Given the description of an element on the screen output the (x, y) to click on. 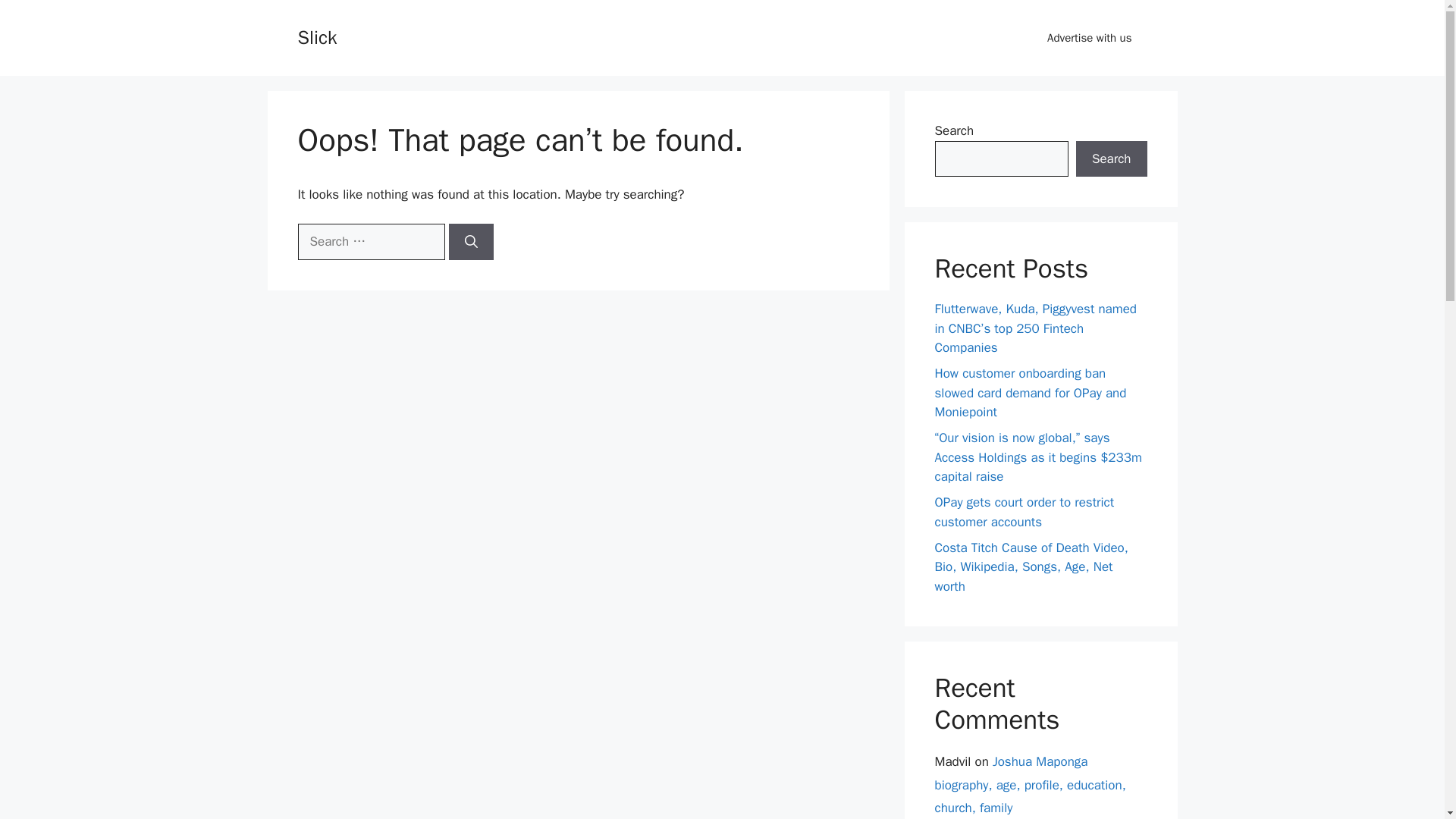
Search (1111, 158)
Slick (316, 37)
OPay gets court order to restrict customer accounts (1023, 511)
Search for: (370, 241)
Advertise with us (1089, 37)
